Given the description of an element on the screen output the (x, y) to click on. 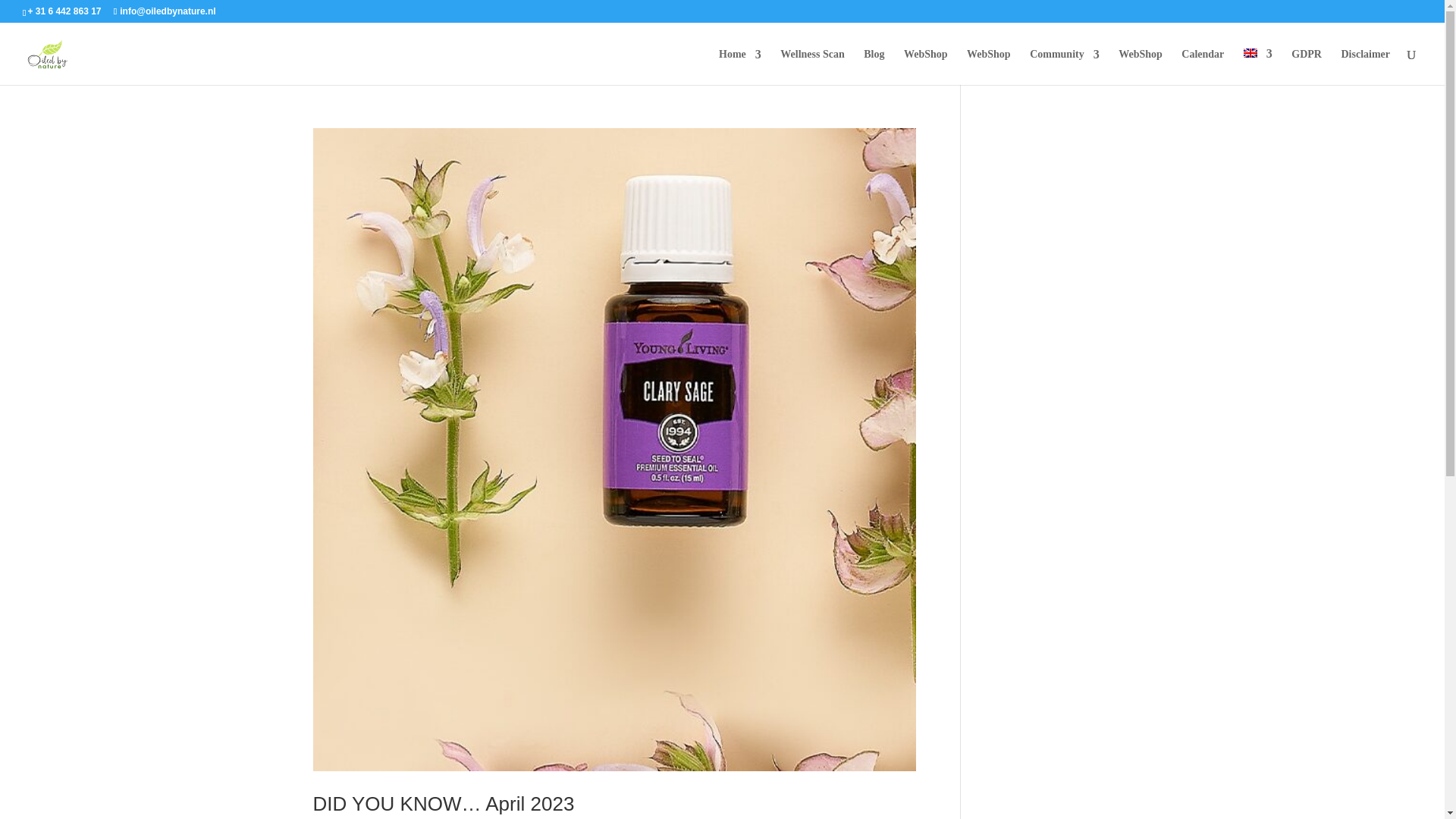
Disclaimer (1365, 67)
Home (740, 67)
WebShop (925, 67)
WebShop (988, 67)
Calendar (1202, 67)
WebShop (1139, 67)
Community (1064, 67)
Wellness Scan (812, 67)
